Given the description of an element on the screen output the (x, y) to click on. 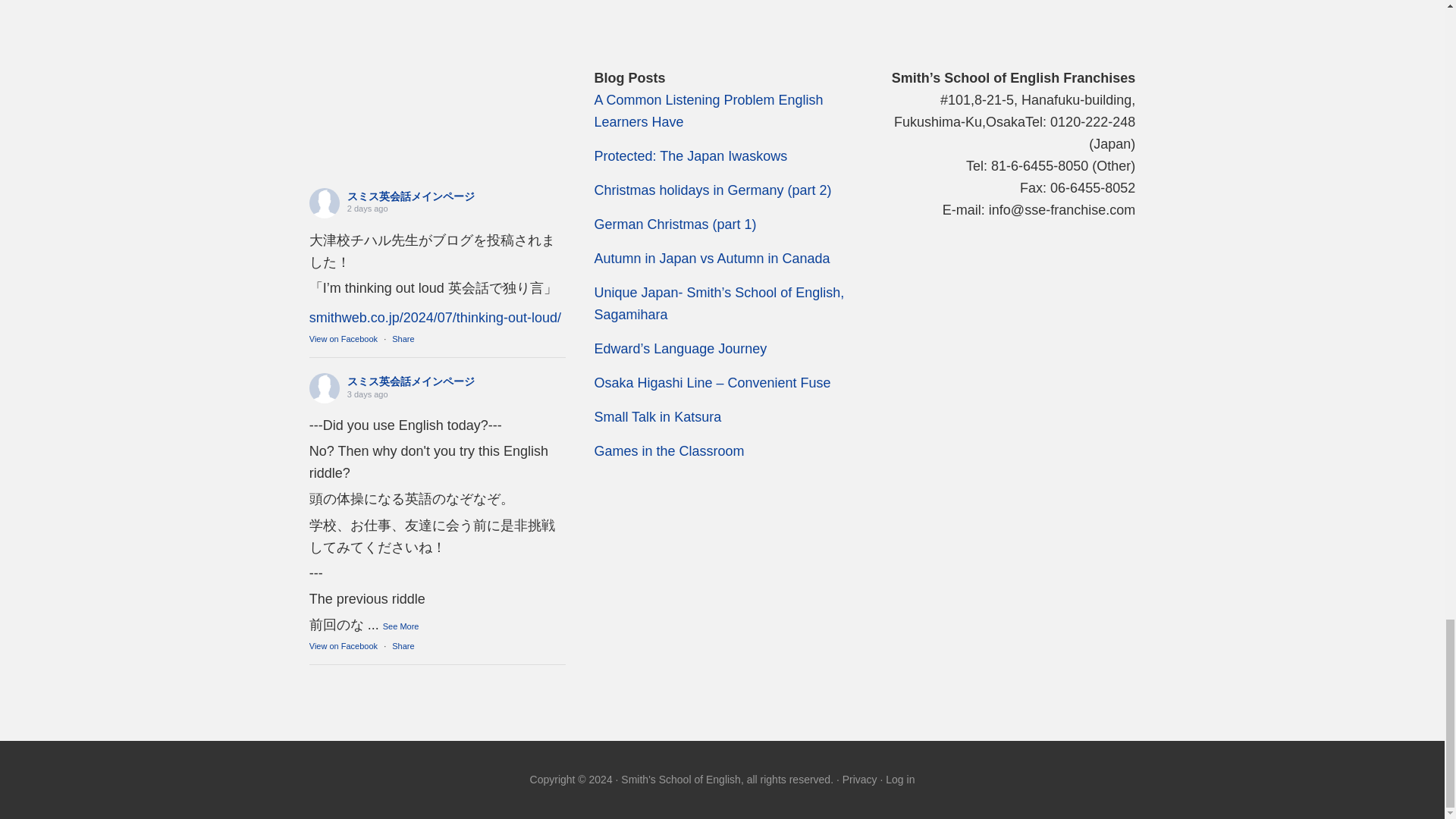
View on Facebook (342, 338)
Share (402, 338)
View on Facebook (342, 645)
Likebox Iframe (437, 123)
